Given the description of an element on the screen output the (x, y) to click on. 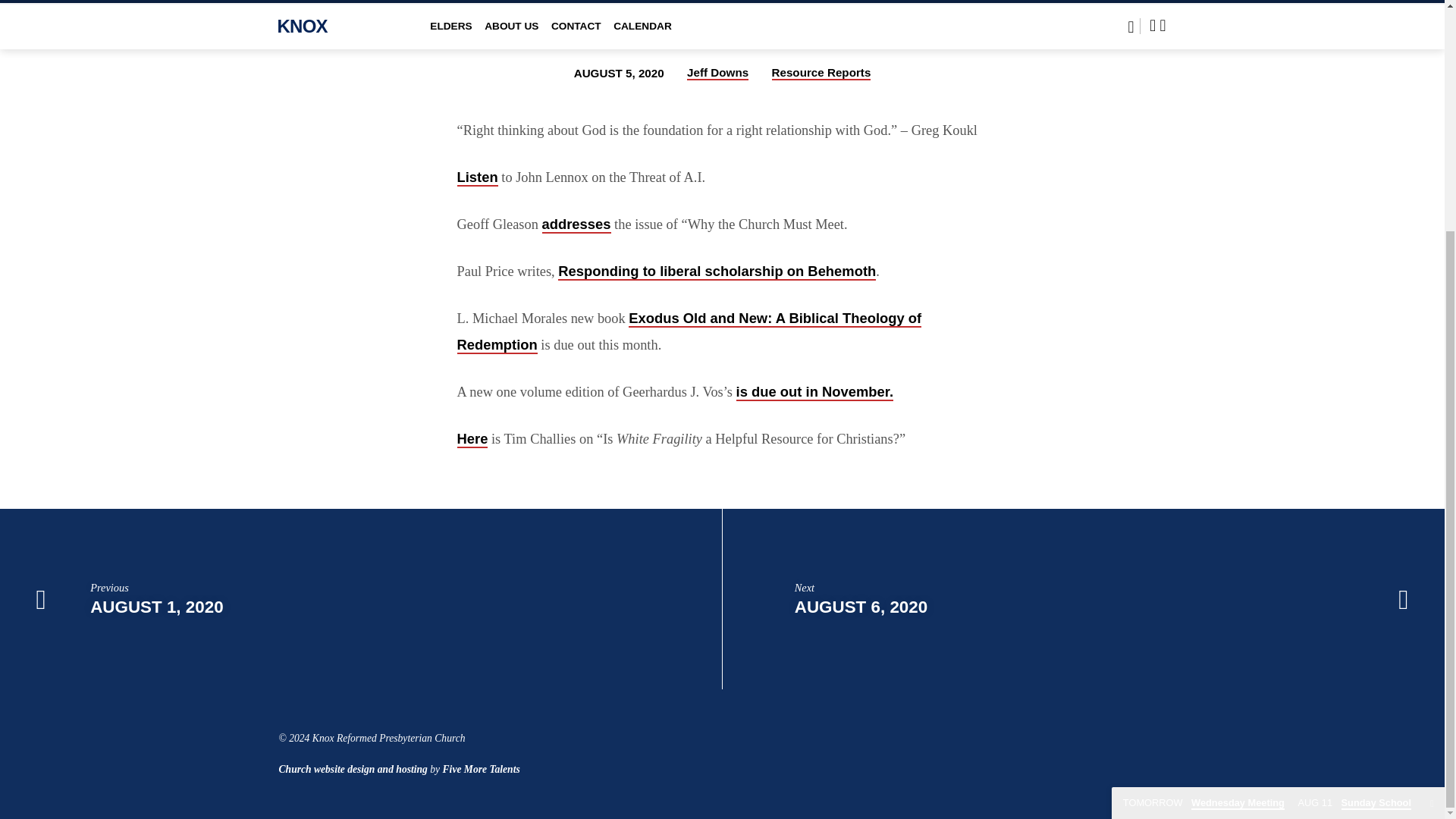
addresses (576, 224)
Responding to liberal scholarship on Behemoth (716, 271)
Church website design and hosting (353, 768)
Exodus Old and New: A Biblical Theology of Redemption (689, 331)
TOMORROW Wednesday Meeting (1203, 490)
Wednesday Meeting (1203, 490)
AUG 11 Sunday School (1353, 490)
Jeff Downs (717, 73)
Resource Reports (820, 73)
Here (472, 438)
AUGUST 1, 2020 (156, 606)
Sunday School (1353, 490)
is due out in November. (814, 392)
AUGUST 6, 2020 (860, 606)
Listen (477, 177)
